Given the description of an element on the screen output the (x, y) to click on. 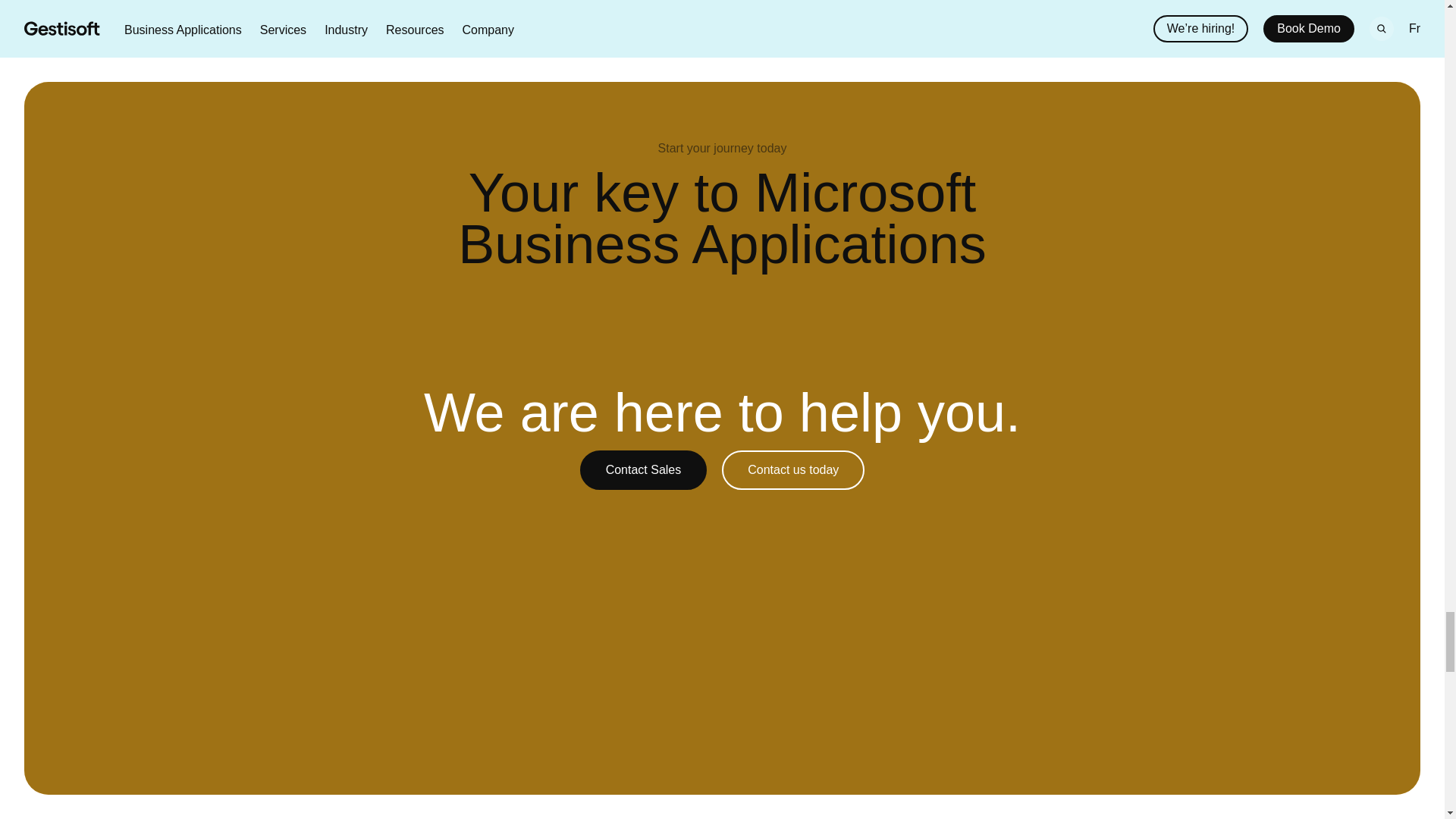
Contact Sales (643, 454)
